Given the description of an element on the screen output the (x, y) to click on. 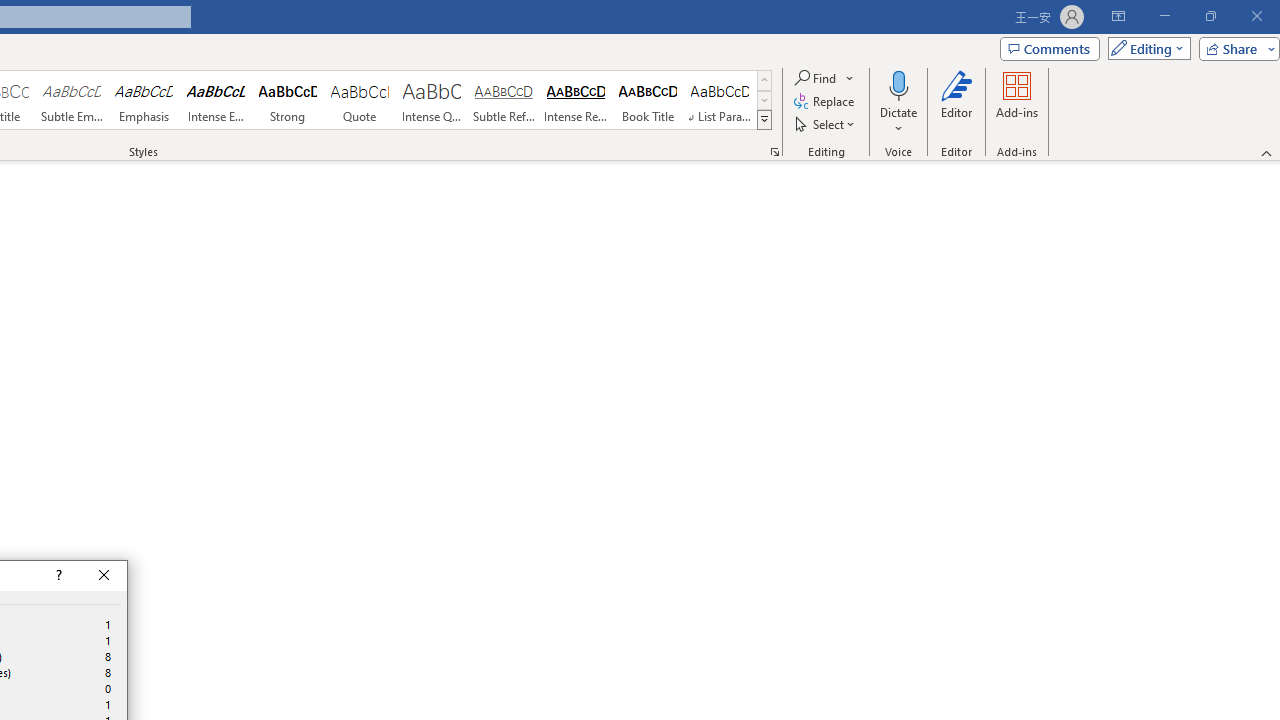
Intense Emphasis (216, 100)
Intense Reference (575, 100)
Emphasis (143, 100)
Book Title (647, 100)
Subtle Reference (504, 100)
